Given the description of an element on the screen output the (x, y) to click on. 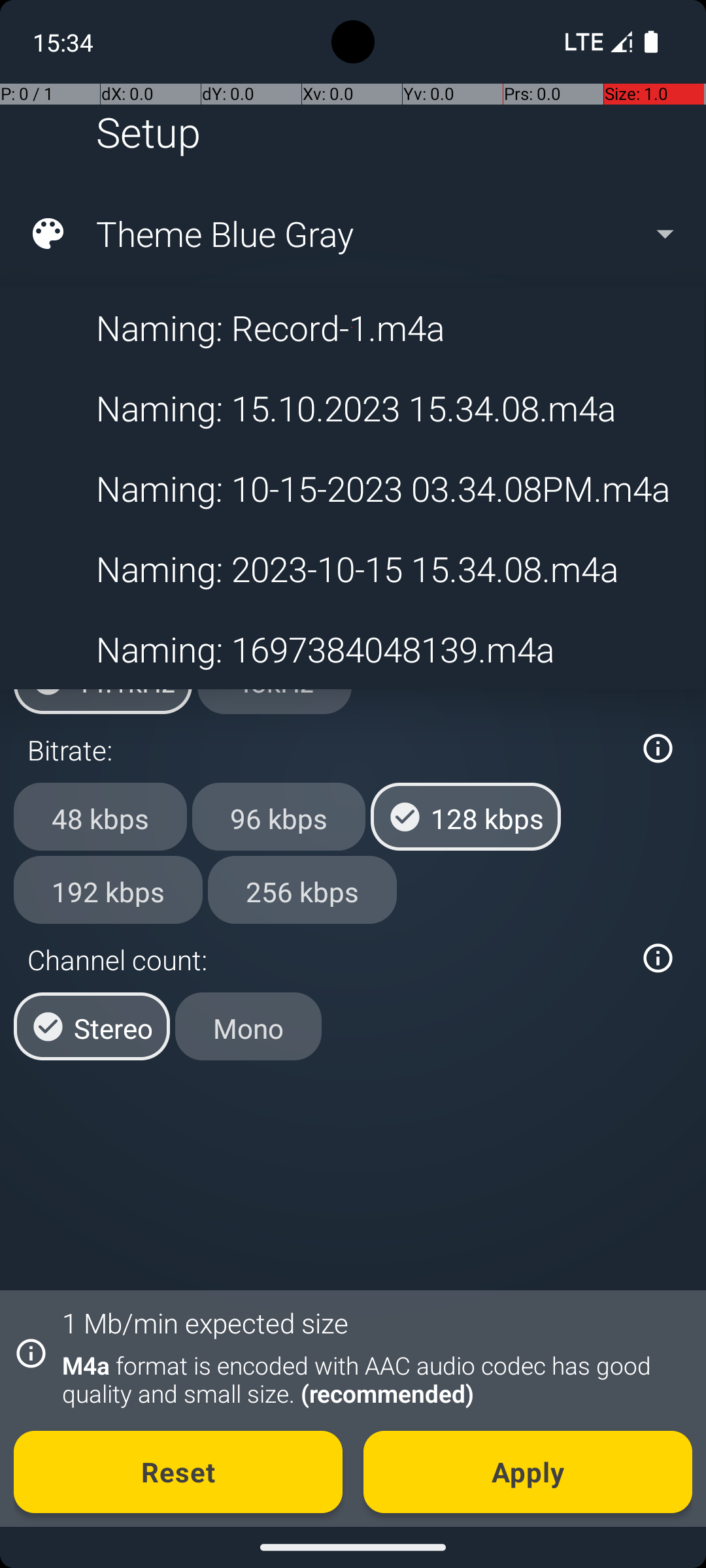
Naming: 15.10.2023 15.34.08.m4a Element type: android.widget.TextView (352, 407)
Naming: 10-15-2023 03.34.08PM.m4a Element type: android.widget.TextView (352, 488)
Naming: 2023-10-15 15.34.08.m4a Element type: android.widget.TextView (352, 568)
Naming: 1697384048139.m4a Element type: android.widget.TextView (352, 648)
